Given the description of an element on the screen output the (x, y) to click on. 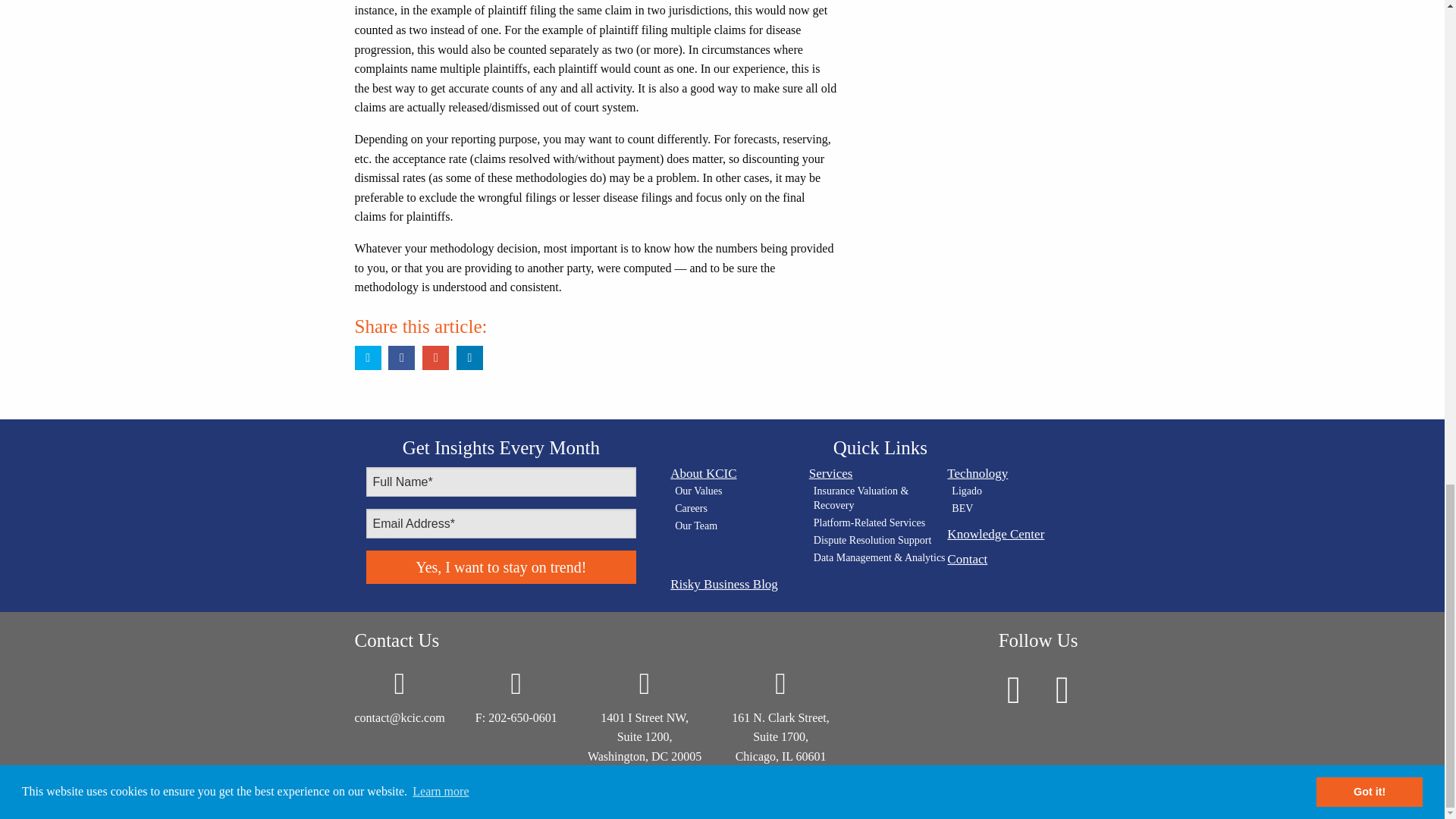
About KCIC (739, 472)
Careers (742, 509)
Contact (1016, 558)
Yes, I want to stay on trend! (500, 566)
Services (878, 472)
BEV (1019, 509)
Yes, I want to stay on trend! (500, 566)
Platform-Related Services (880, 523)
Ligado (1019, 491)
Our Team (742, 526)
Technology (1016, 472)
Our Values (742, 491)
Dispute Resolution Support (880, 540)
Knowledge Center (1016, 533)
